Given the description of an element on the screen output the (x, y) to click on. 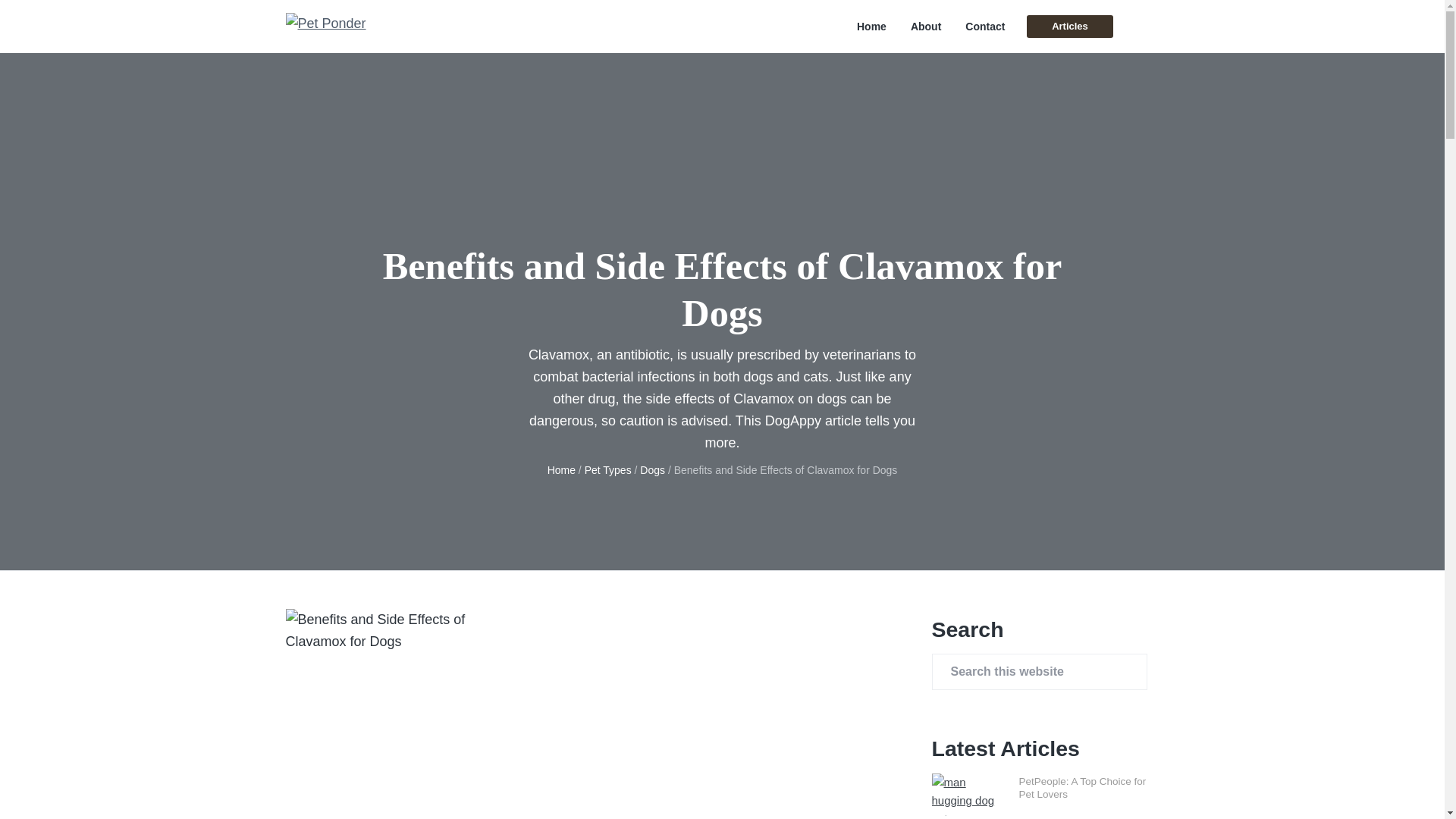
Home (561, 469)
PetPeople: A Top Choice for Pet Lovers (1083, 787)
About (925, 27)
Dogs (652, 469)
Home (871, 27)
Search (60, 18)
Articles (1068, 25)
Pet Types (608, 469)
Contact (984, 27)
